Given the description of an element on the screen output the (x, y) to click on. 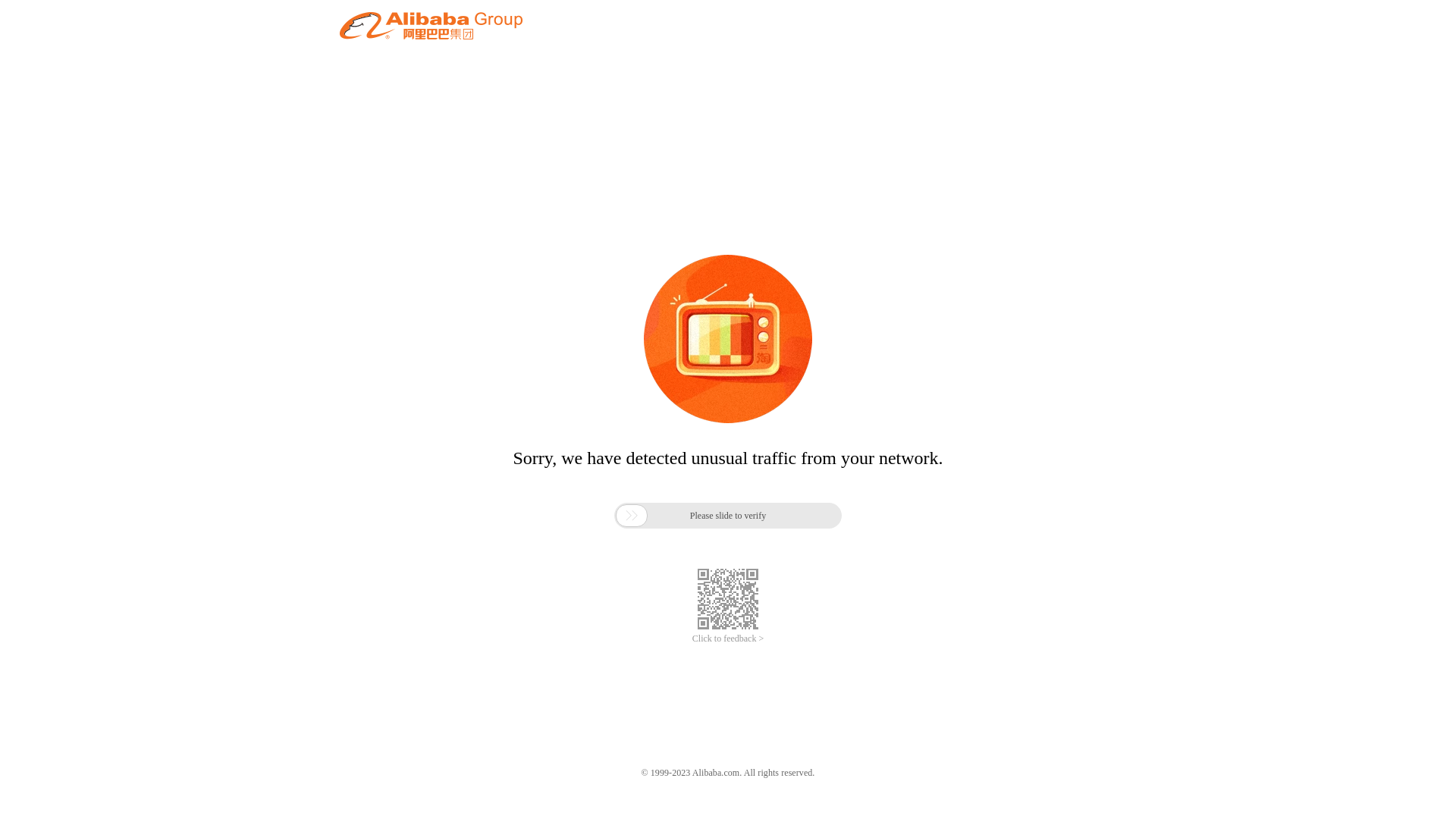
Click to feedback > Element type: text (727, 638)
